Given the description of an element on the screen output the (x, y) to click on. 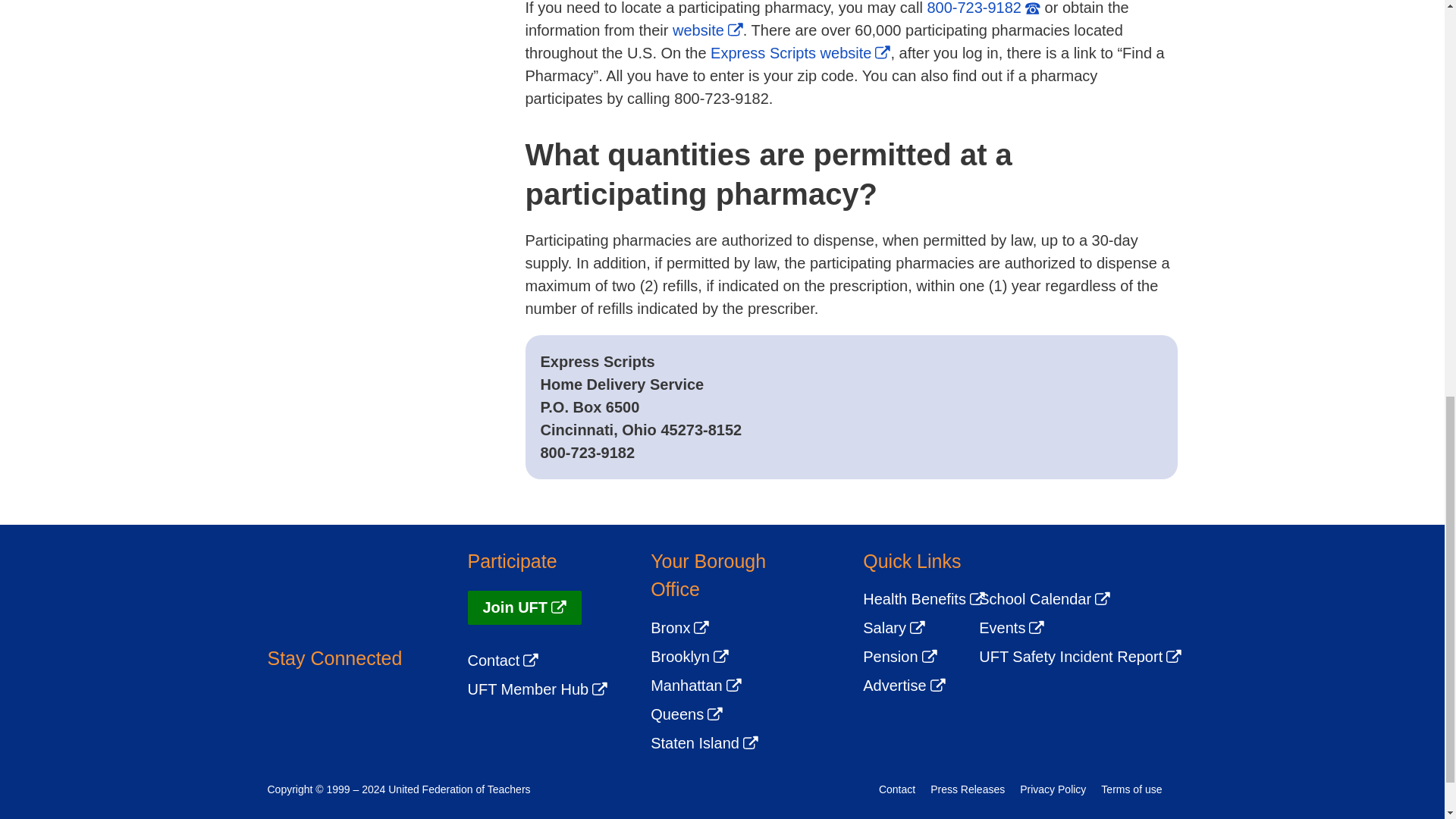
Instagram (365, 709)
Facebook (280, 709)
TikTok (408, 709)
X (322, 709)
